Given the description of an element on the screen output the (x, y) to click on. 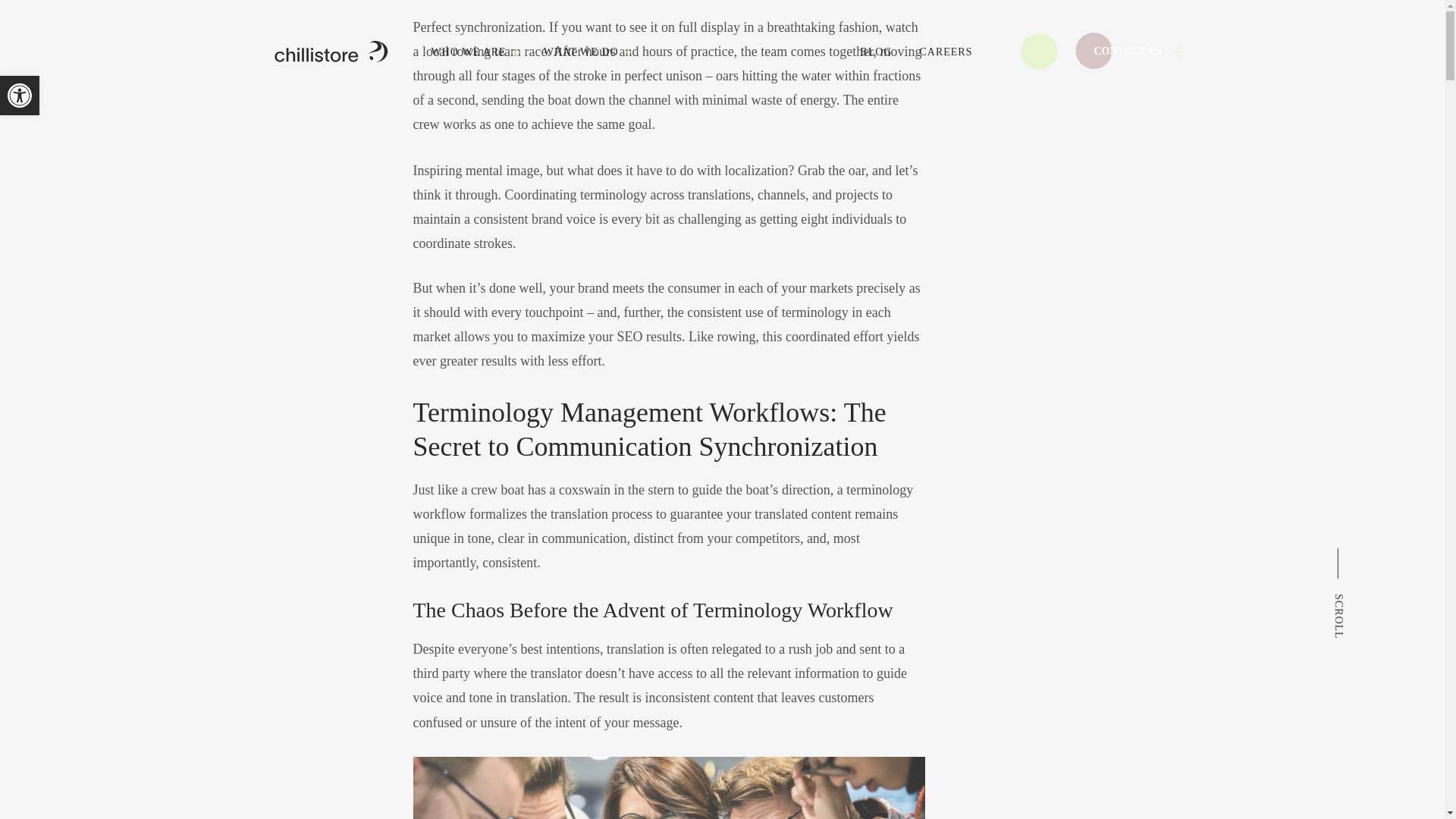
BLOG (875, 51)
Accessibility Tools (19, 95)
WHO WE ARE (467, 51)
SCROLL (1377, 553)
CONTACT US (1137, 51)
WHAT WE DO (580, 51)
CAREERS (945, 51)
Accessibility Tools (19, 95)
